Given the description of an element on the screen output the (x, y) to click on. 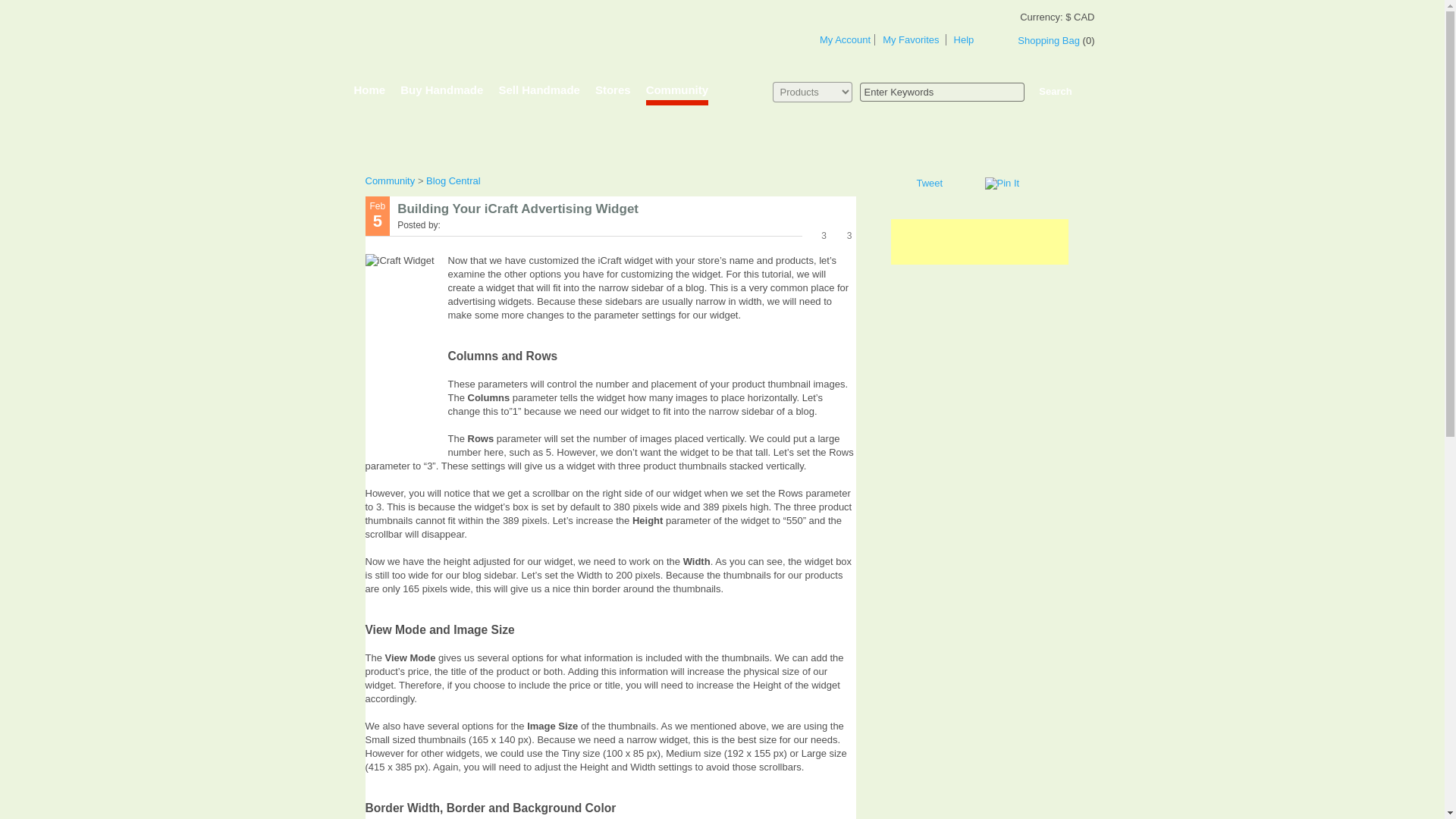
Search (1054, 91)
My Account (844, 39)
Home (369, 94)
Community (391, 180)
Blog Central (453, 180)
Sell Handmade (538, 94)
Enter Keywords (942, 90)
Pin It (1001, 183)
Buy Handmade (441, 94)
Help (963, 39)
Creativity without borders (482, 36)
My Favorites (910, 39)
Community (677, 94)
Shopping Bag (1048, 40)
Stores (612, 94)
